Given the description of an element on the screen output the (x, y) to click on. 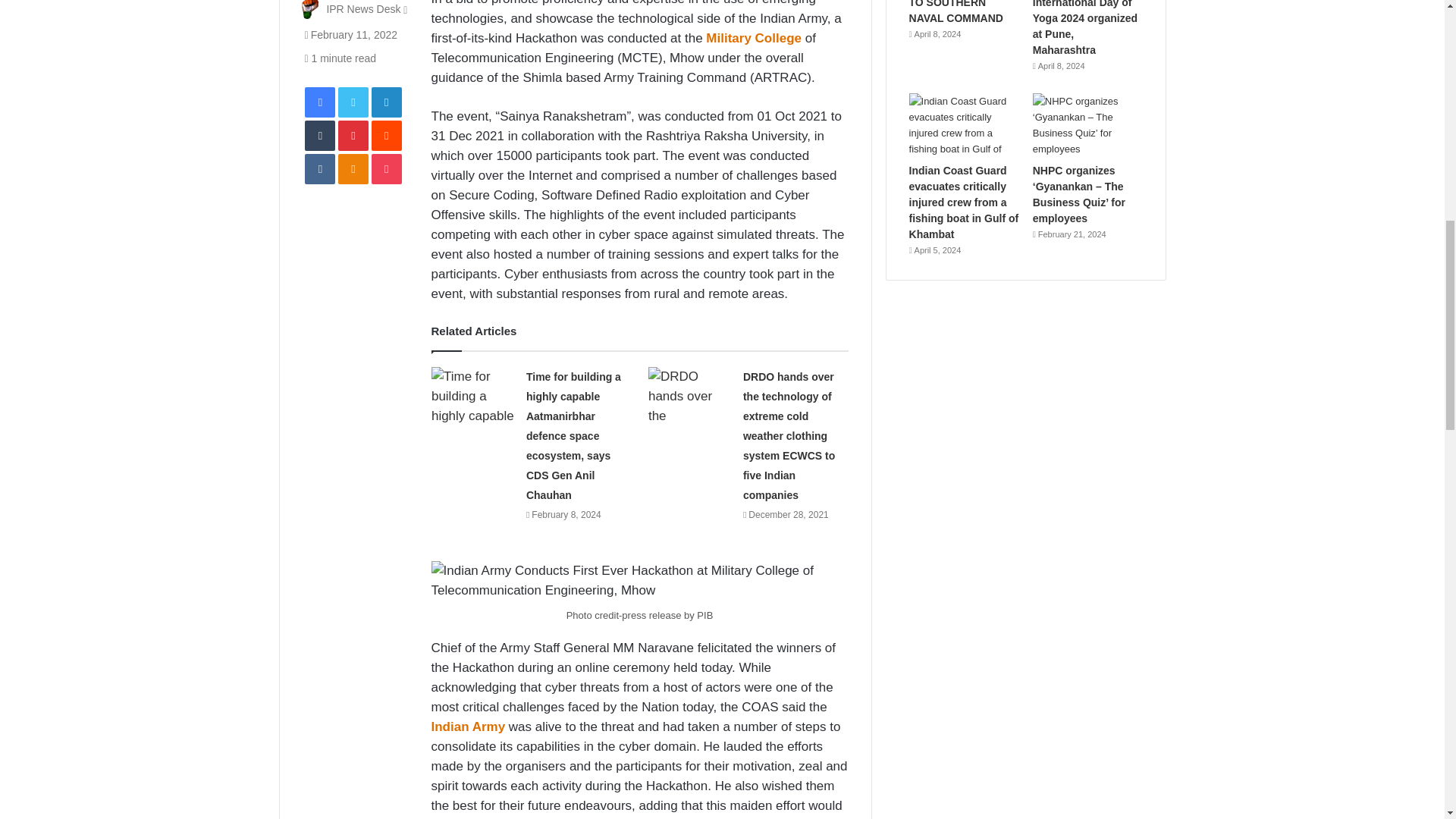
Facebook (319, 101)
Twitter (352, 101)
Tumblr (319, 135)
Pinterest (352, 135)
Reddit (386, 135)
VKontakte (319, 168)
LinkedIn (386, 101)
IPR News Desk (363, 9)
Military College (754, 38)
